Given the description of an element on the screen output the (x, y) to click on. 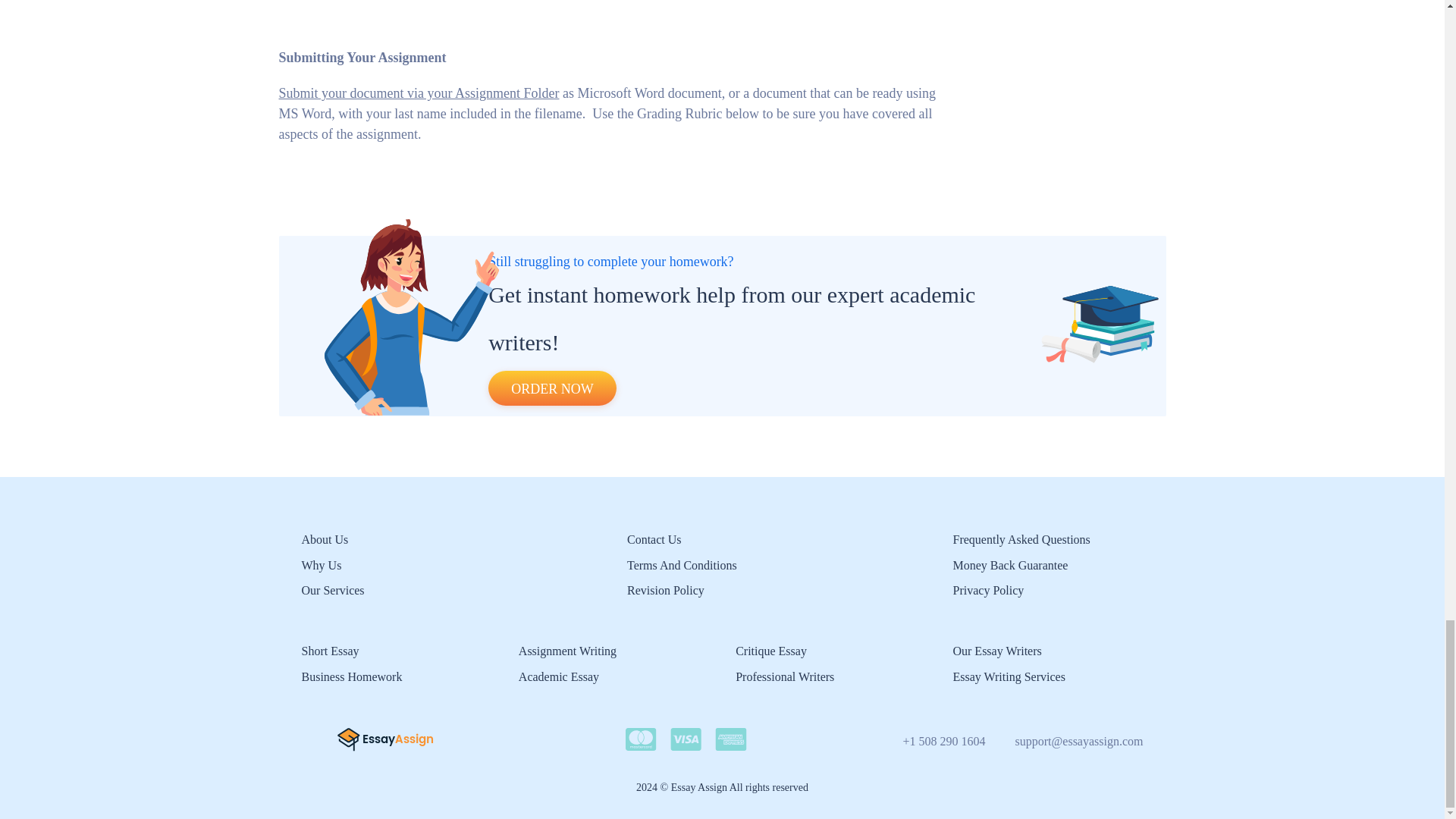
ORDER NOW (551, 388)
Terms And Conditions (681, 564)
Revision Policy (665, 590)
Our Services (333, 590)
Why Us (321, 564)
About Us (325, 539)
Contact Us (654, 539)
